Given the description of an element on the screen output the (x, y) to click on. 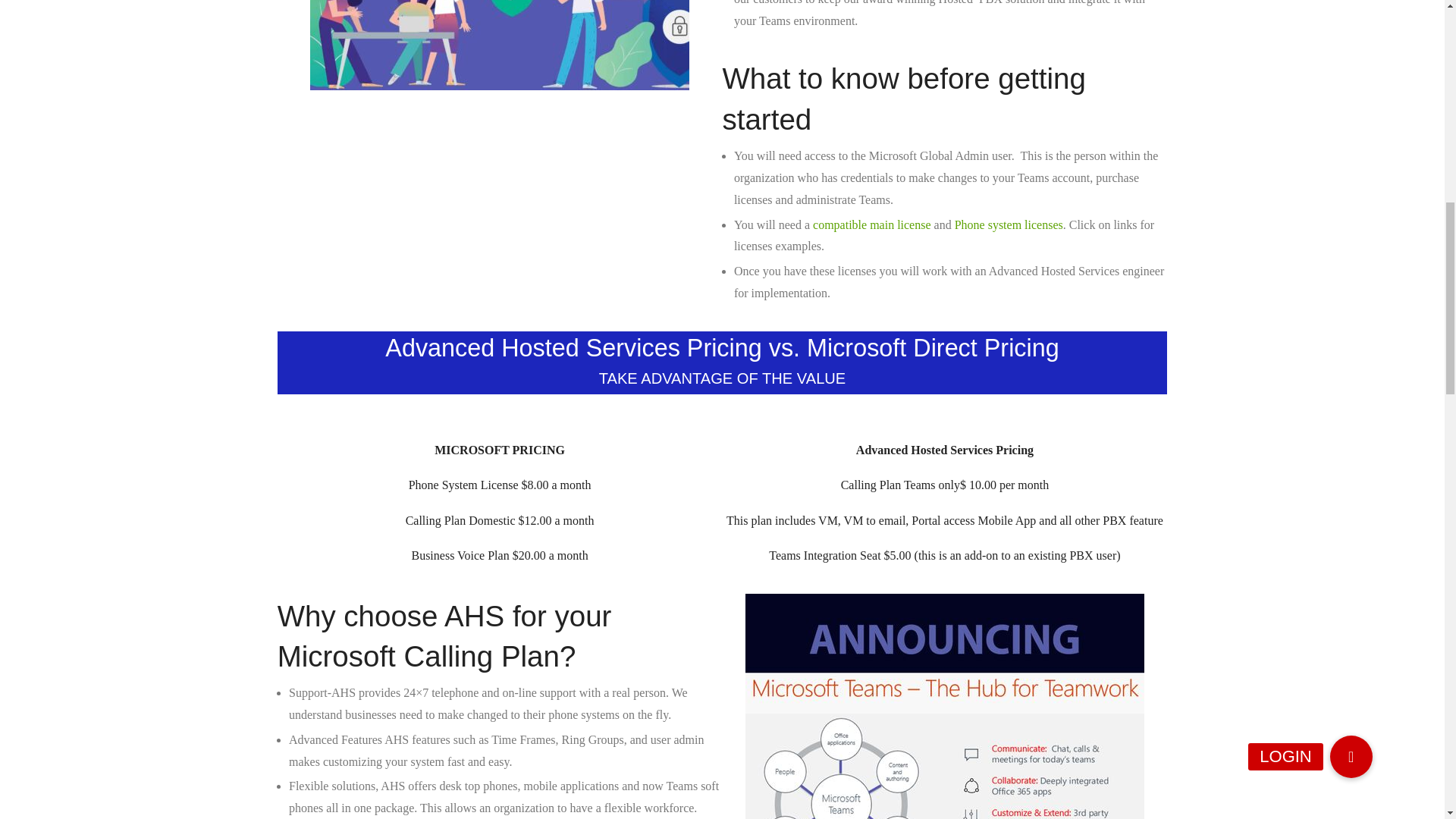
compatible main license (873, 224)
Phone system licenses (1008, 224)
